Given the description of an element on the screen output the (x, y) to click on. 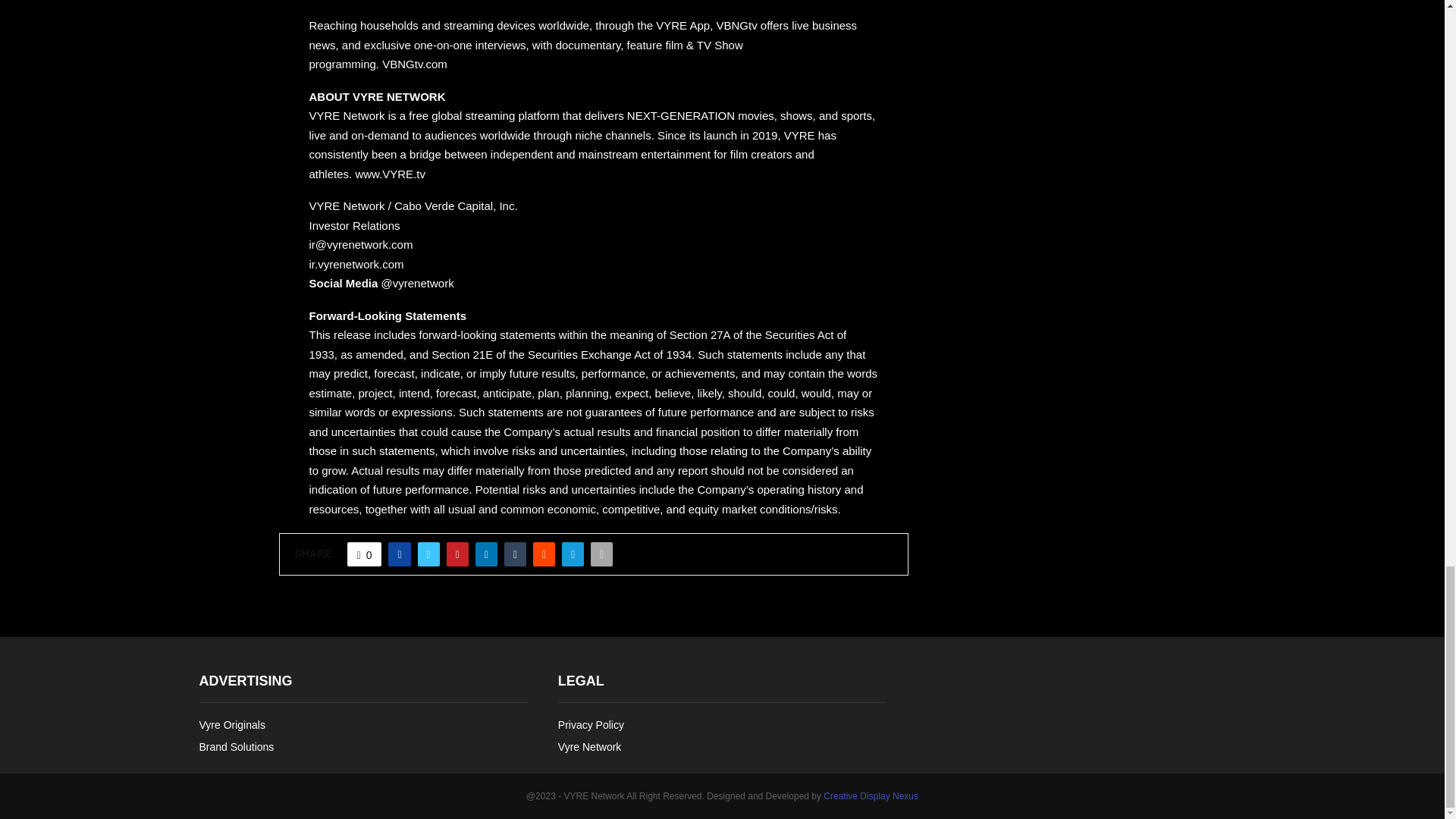
VBNGtv.com (413, 63)
Privacy Policy (590, 726)
0 (364, 554)
Like (364, 554)
www.VYRE.tv (390, 173)
Vyre Network (589, 744)
VYRE Network  (348, 115)
Vyre Originals (231, 726)
Brand Solutions (235, 744)
